Given the description of an element on the screen output the (x, y) to click on. 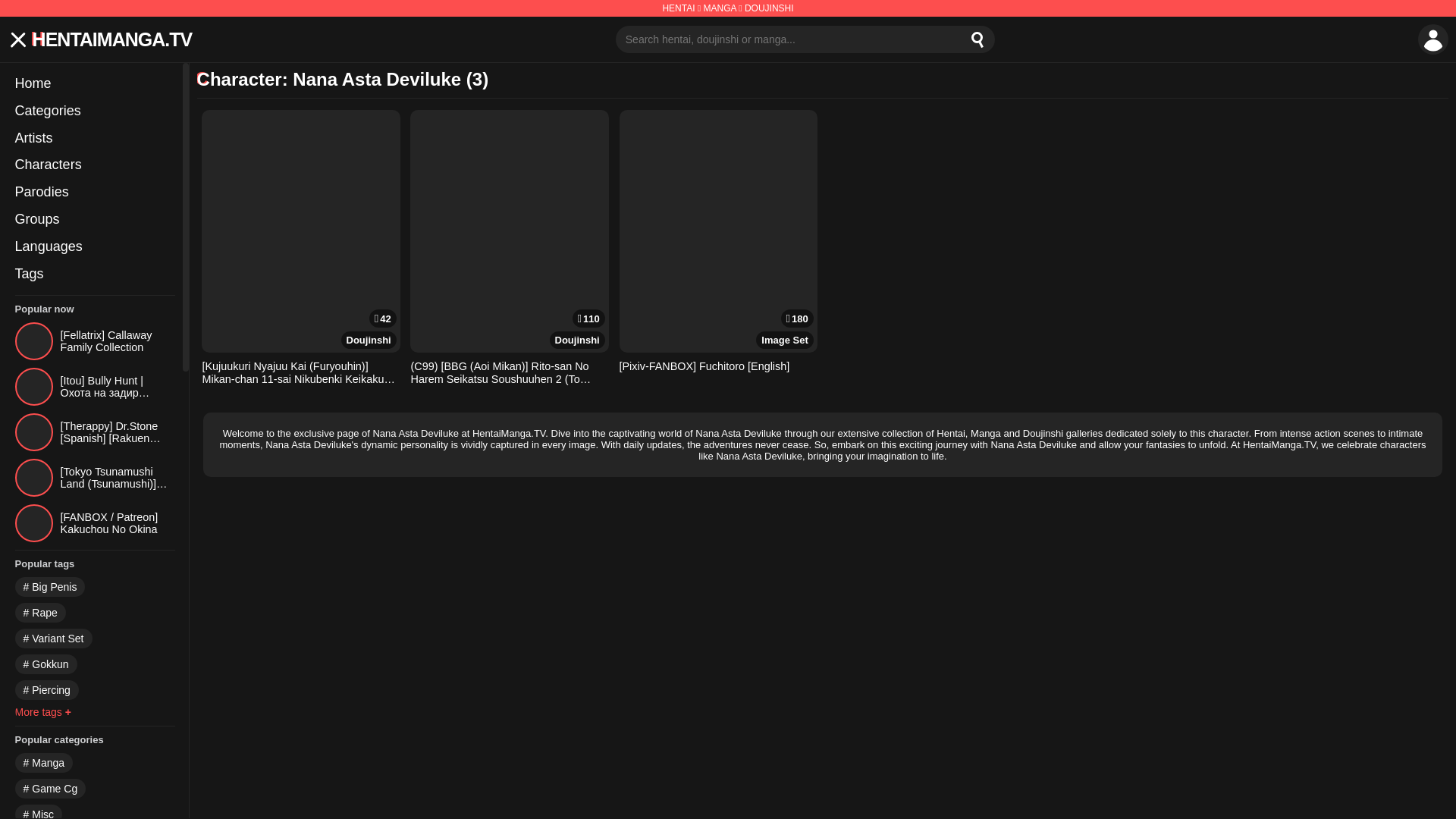
HENTAIMANGA.TV (112, 39)
Artists (94, 138)
Parodies (94, 192)
Languages (94, 247)
Categories (94, 111)
Tags (94, 274)
Home (94, 83)
Characters (94, 165)
Languages (94, 247)
Parodies (94, 192)
Categories (94, 111)
Groups (94, 219)
Tags (94, 274)
Groups (94, 219)
Characters (94, 165)
